Given the description of an element on the screen output the (x, y) to click on. 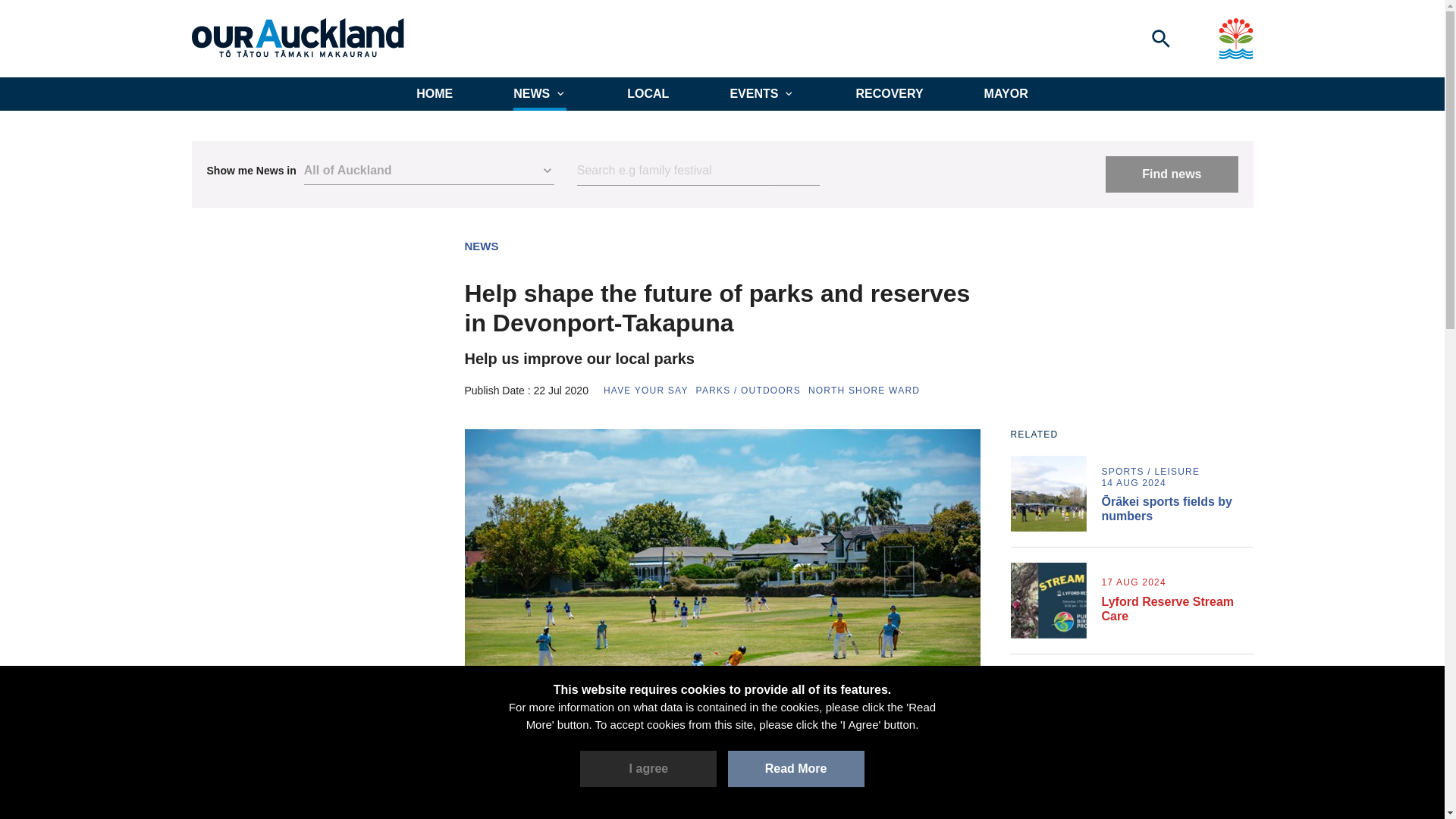
HOME (434, 93)
Find news (1171, 174)
RECOVERY (889, 93)
HAVE YOUR SAY (646, 389)
LOCAL (647, 93)
Toggle search (1160, 38)
NEWS (480, 245)
EVENTS (761, 93)
NEWS (539, 93)
MAYOR (1005, 93)
